Given the description of an element on the screen output the (x, y) to click on. 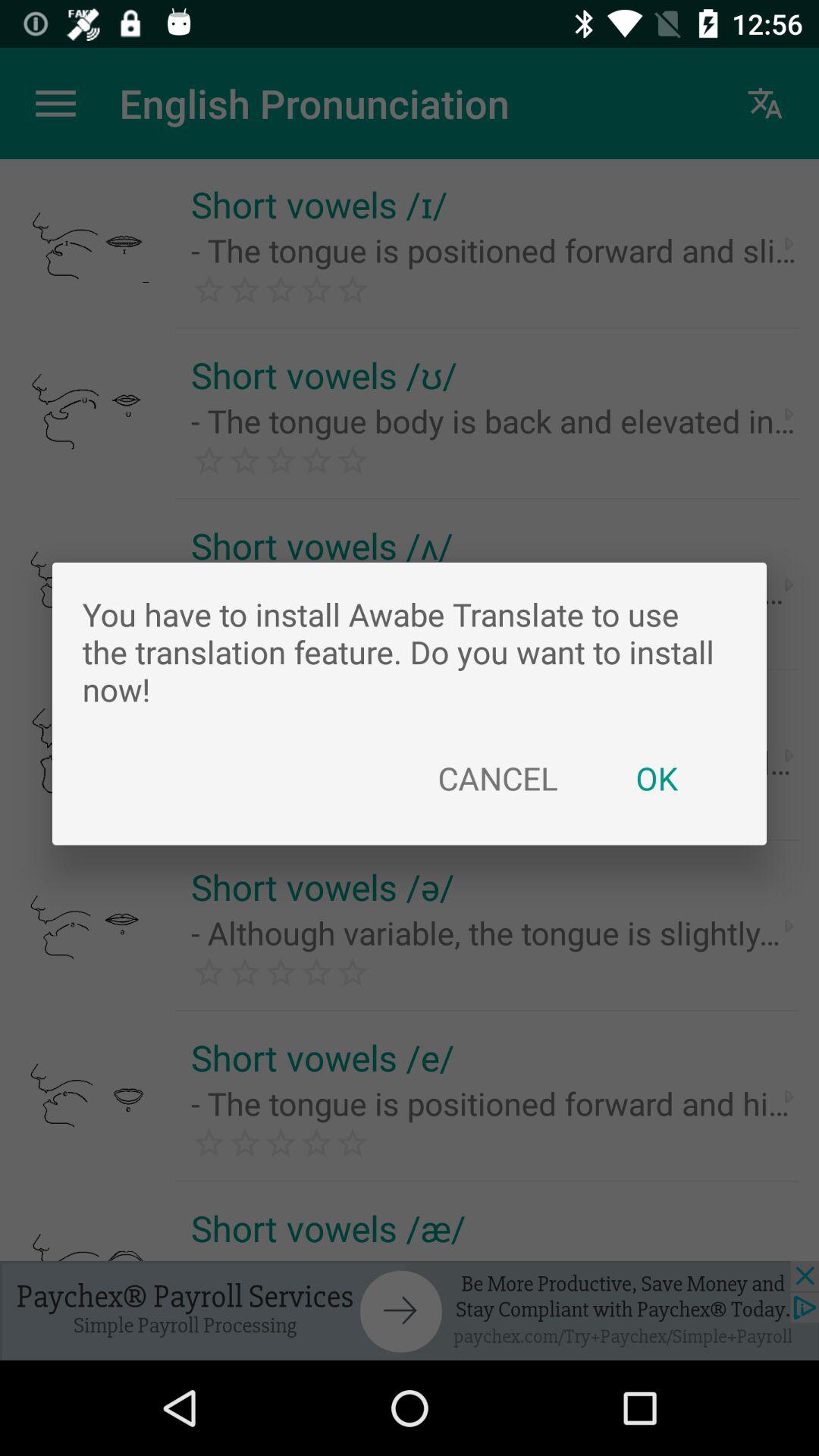
click on the icon which is beside short vowels e (789, 925)
select the arrow button in the second row right corner (789, 414)
select the symbol which is right to english pronunciation (765, 104)
go to image in the first option (88, 243)
